Given the description of an element on the screen output the (x, y) to click on. 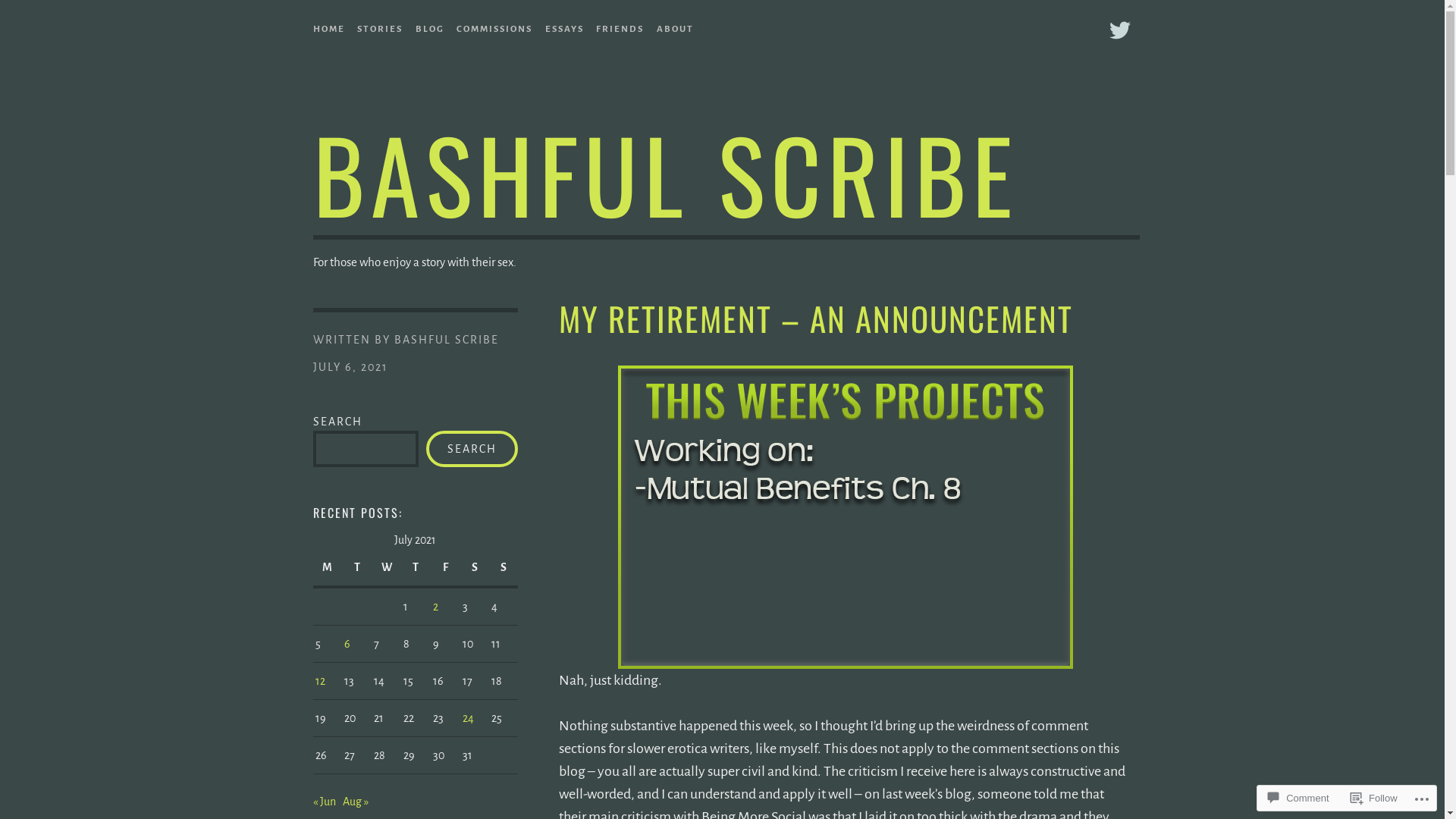
JULY 6, 2021 Element type: text (349, 366)
12 Element type: text (320, 680)
2 Element type: text (435, 606)
Follow Element type: text (1373, 797)
FRIENDS Element type: text (619, 26)
24 Element type: text (467, 718)
ABOUT Element type: text (674, 26)
BLOG Element type: text (429, 26)
COMMISSIONS Element type: text (494, 26)
Comment Element type: text (1297, 797)
SEARCH Element type: text (471, 448)
ESSAYS Element type: text (563, 26)
BASHFUL SCRIBE Element type: text (664, 173)
STORIES Element type: text (379, 26)
BASHFUL SCRIBE Element type: text (446, 339)
HOME Element type: text (328, 26)
6 Element type: text (347, 643)
